Given the description of an element on the screen output the (x, y) to click on. 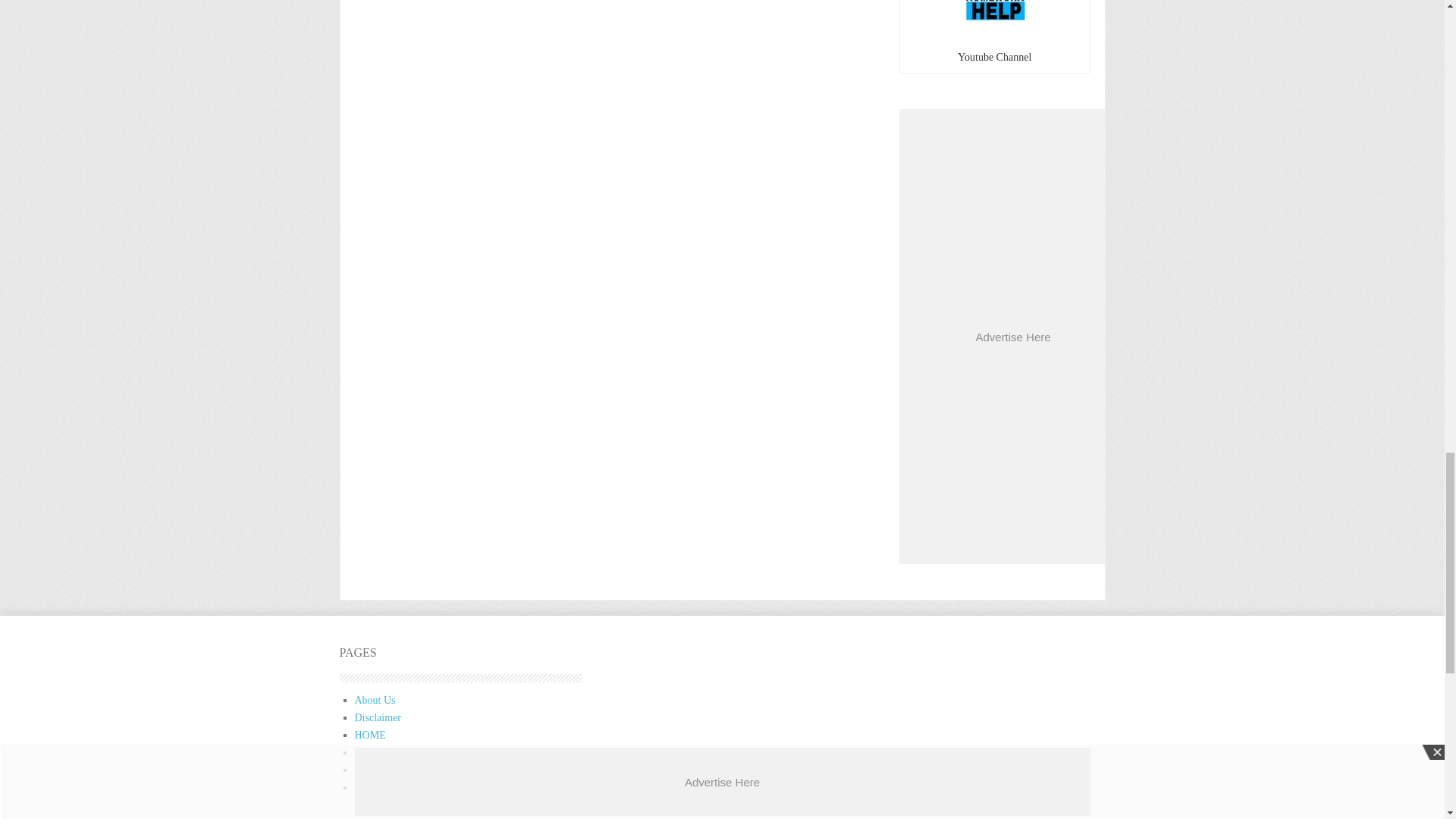
Join on Youtube (994, 22)
